Given the description of an element on the screen output the (x, y) to click on. 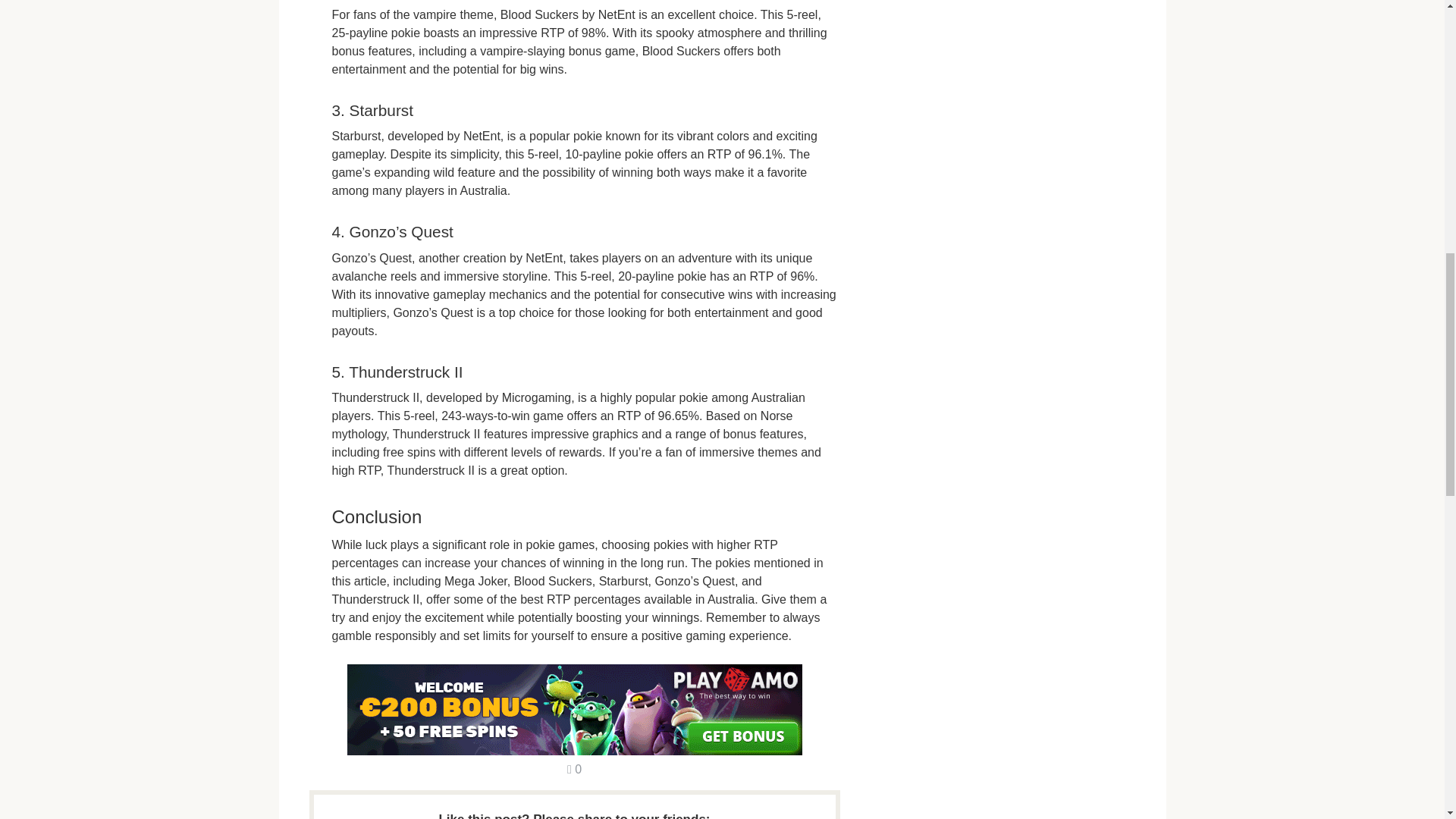
Comments (573, 768)
